Given the description of an element on the screen output the (x, y) to click on. 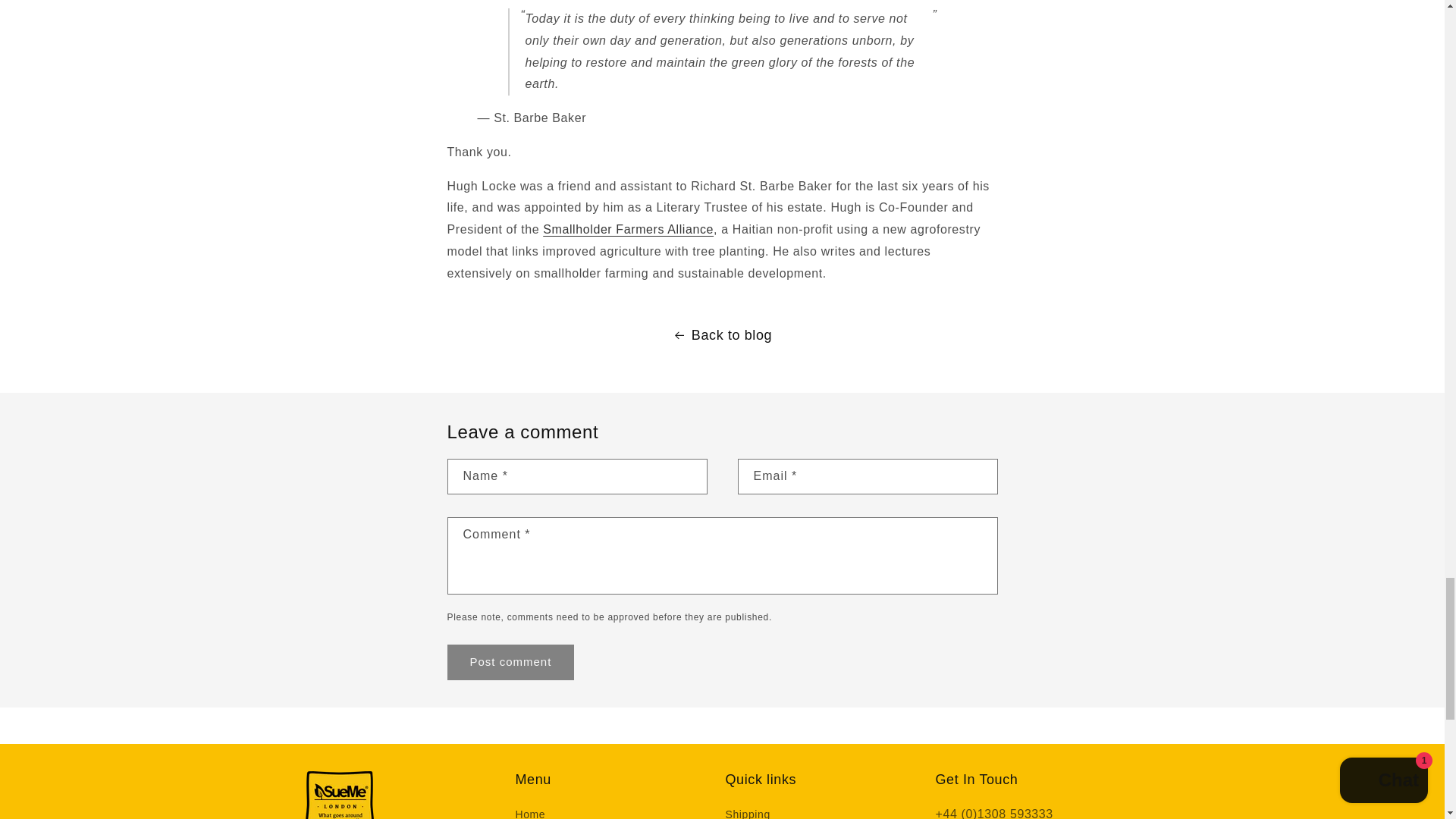
Post comment (510, 662)
